Given the description of an element on the screen output the (x, y) to click on. 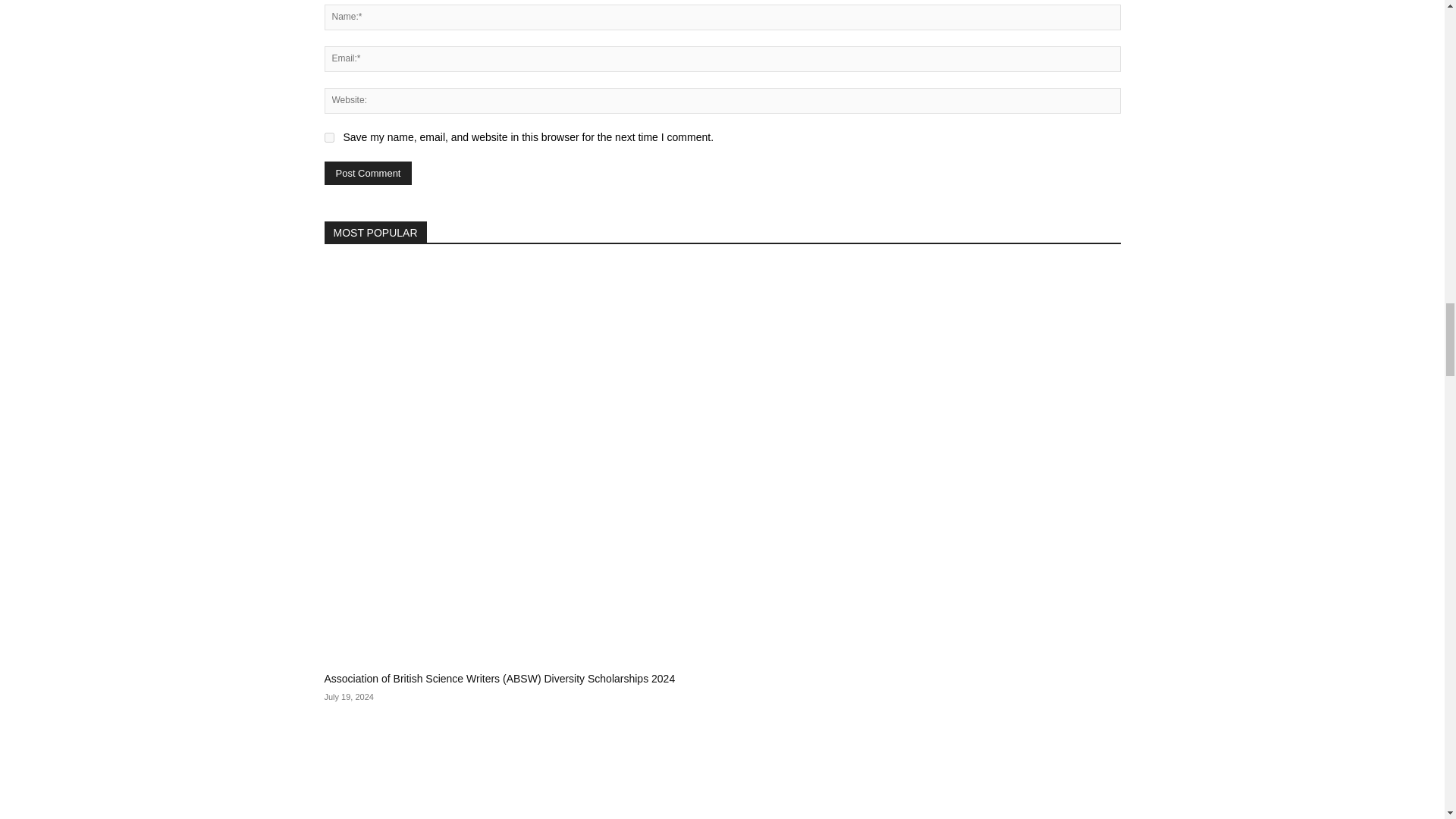
yes (329, 137)
Post Comment (368, 173)
